Given the description of an element on the screen output the (x, y) to click on. 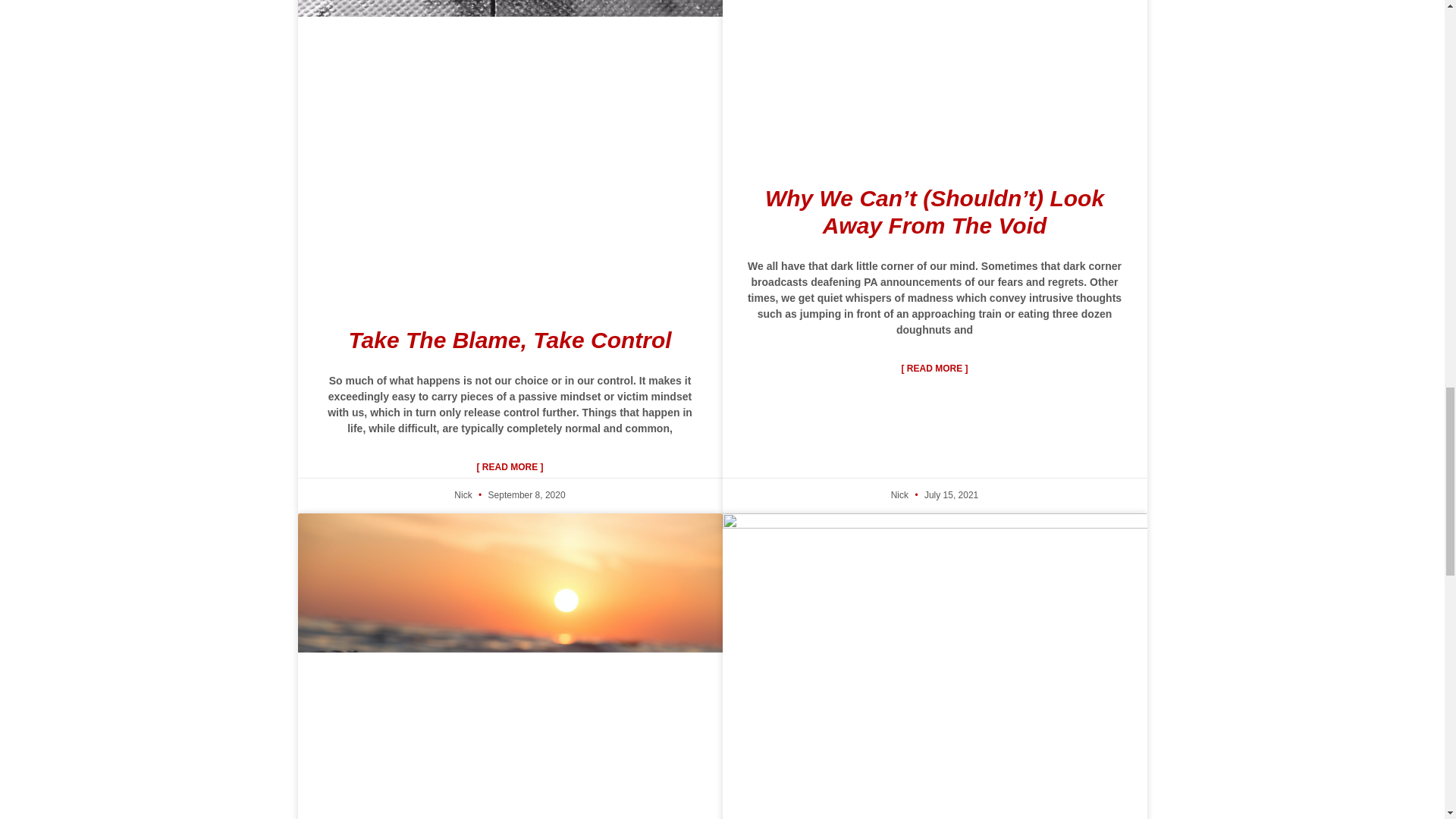
Take The Blame, Take Control (509, 339)
